Given the description of an element on the screen output the (x, y) to click on. 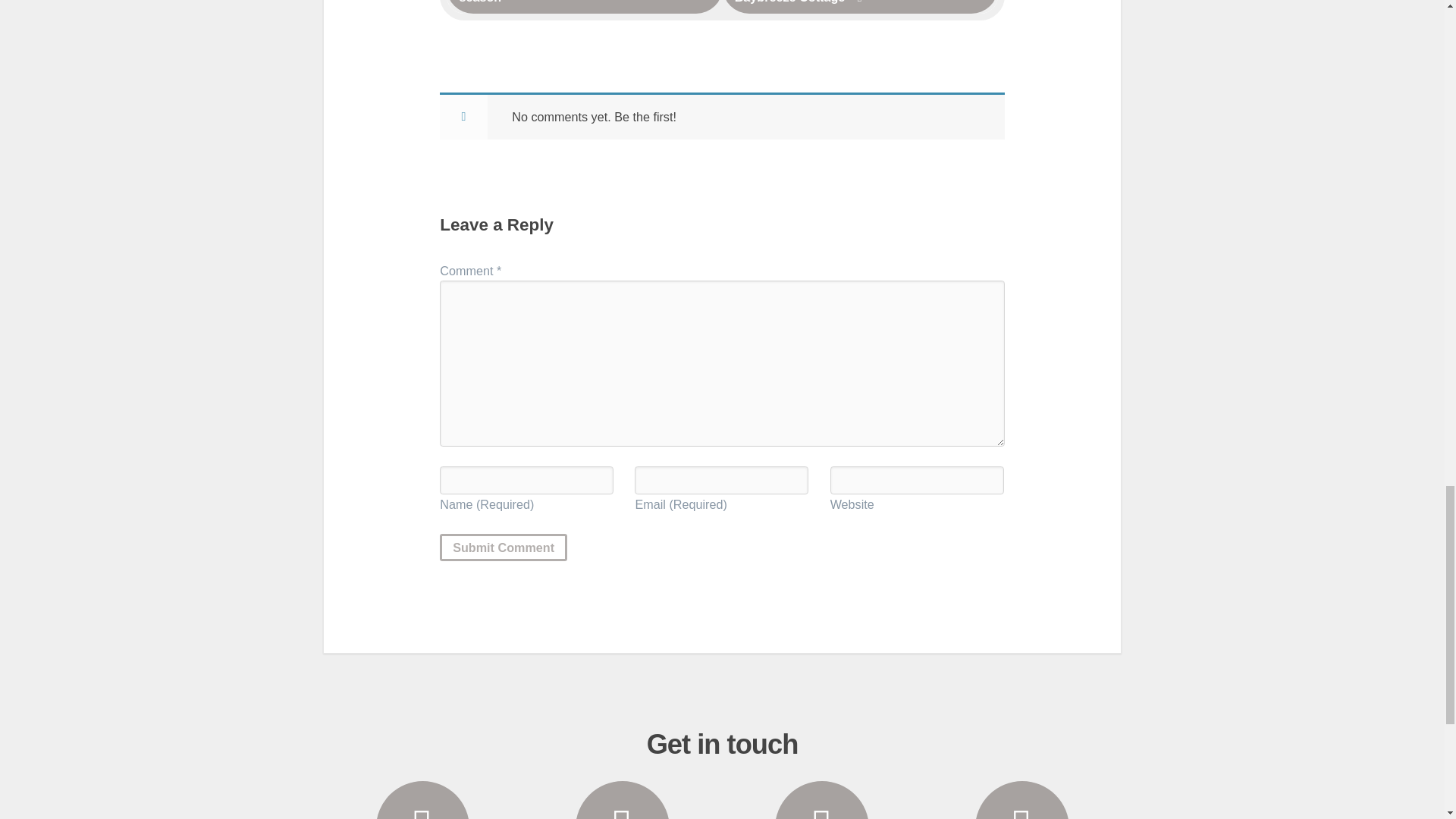
705.752.1118 (422, 800)
Submit Comment (503, 547)
Our Location (821, 800)
Building new custom kitchen cabinets for Baybreeze Cottage (859, 6)
Submit Comment (503, 547)
Facebook (1021, 800)
